Given the description of an element on the screen output the (x, y) to click on. 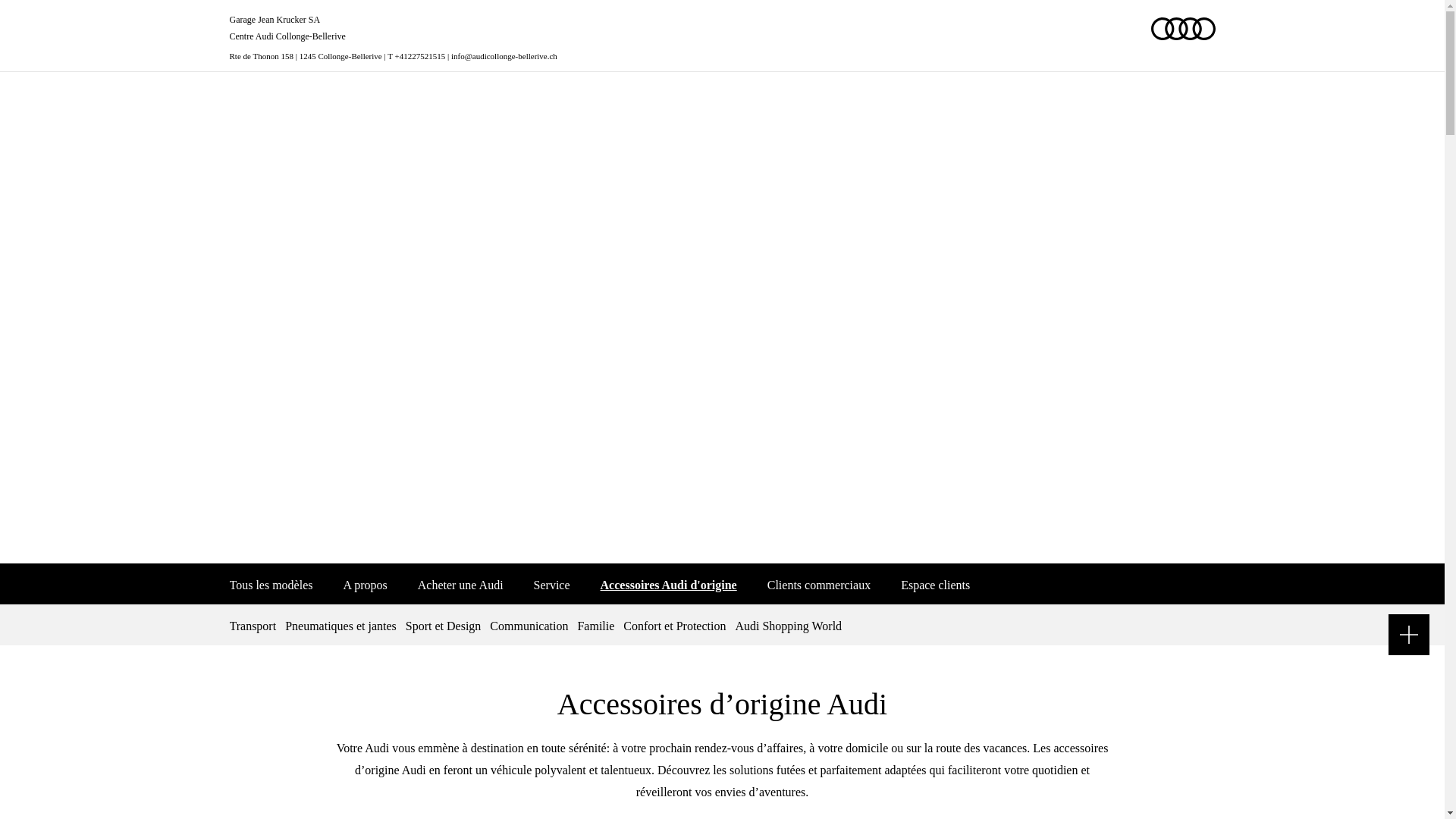
Acheter une Audi Element type: text (460, 583)
Transport Element type: text (254, 624)
info@audicollonge-bellerive.ch Element type: text (504, 55)
Clients commerciaux Element type: text (818, 583)
Familie Element type: text (595, 624)
Communication Element type: text (528, 624)
A propos Element type: text (364, 583)
Accessoires Audi d'origine Element type: text (668, 583)
Confort et Protection Element type: text (674, 624)
Service Element type: text (551, 583)
Espace clients Element type: text (935, 583)
+41227521515 Element type: text (419, 55)
Audi Shopping World Element type: text (788, 624)
Sport et Design Element type: text (443, 624)
Pneumatiques et jantes Element type: text (340, 624)
